Given the description of an element on the screen output the (x, y) to click on. 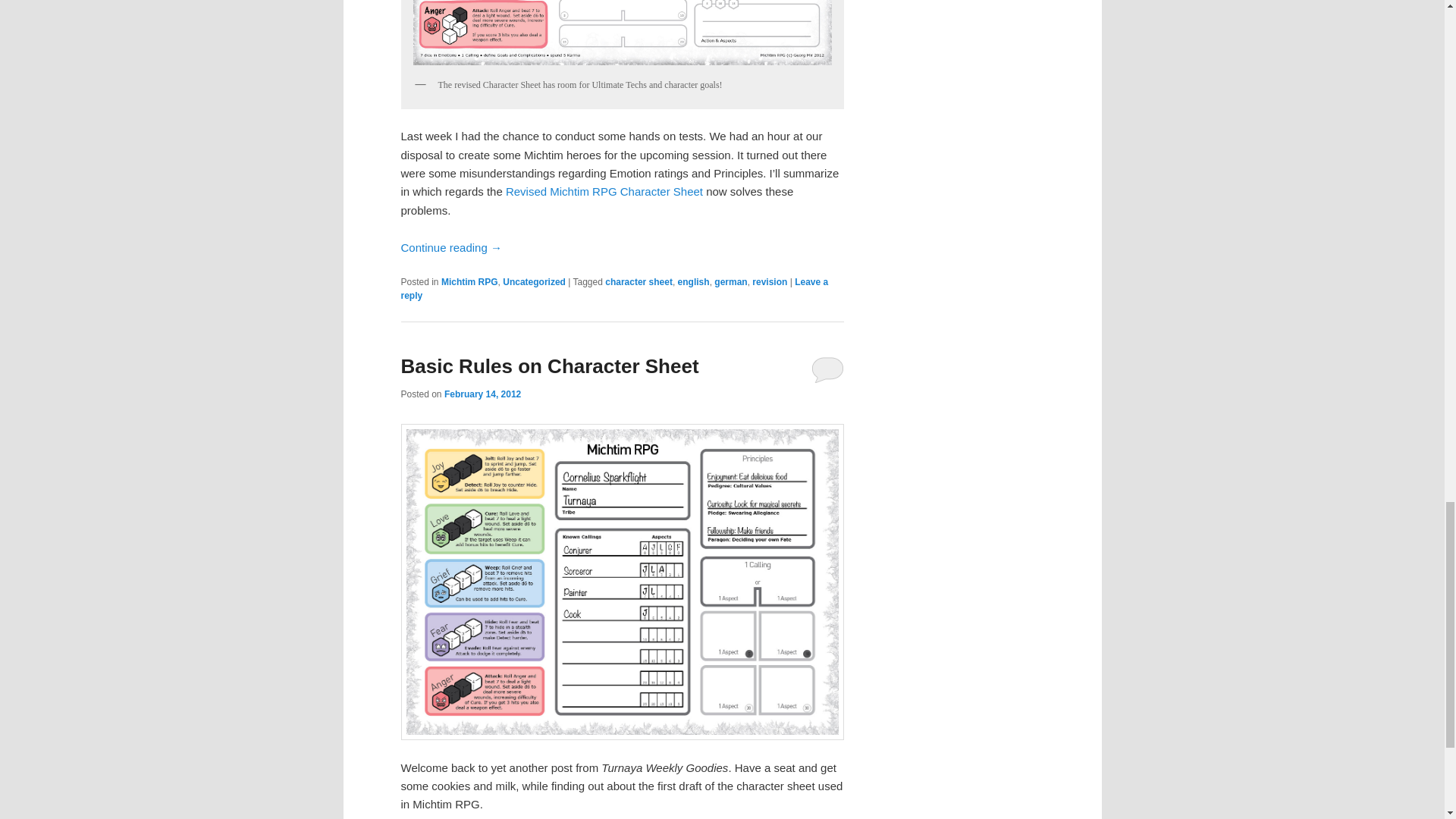
English Michtim RPG Character Sheet (604, 191)
21:57 (482, 394)
